Given the description of an element on the screen output the (x, y) to click on. 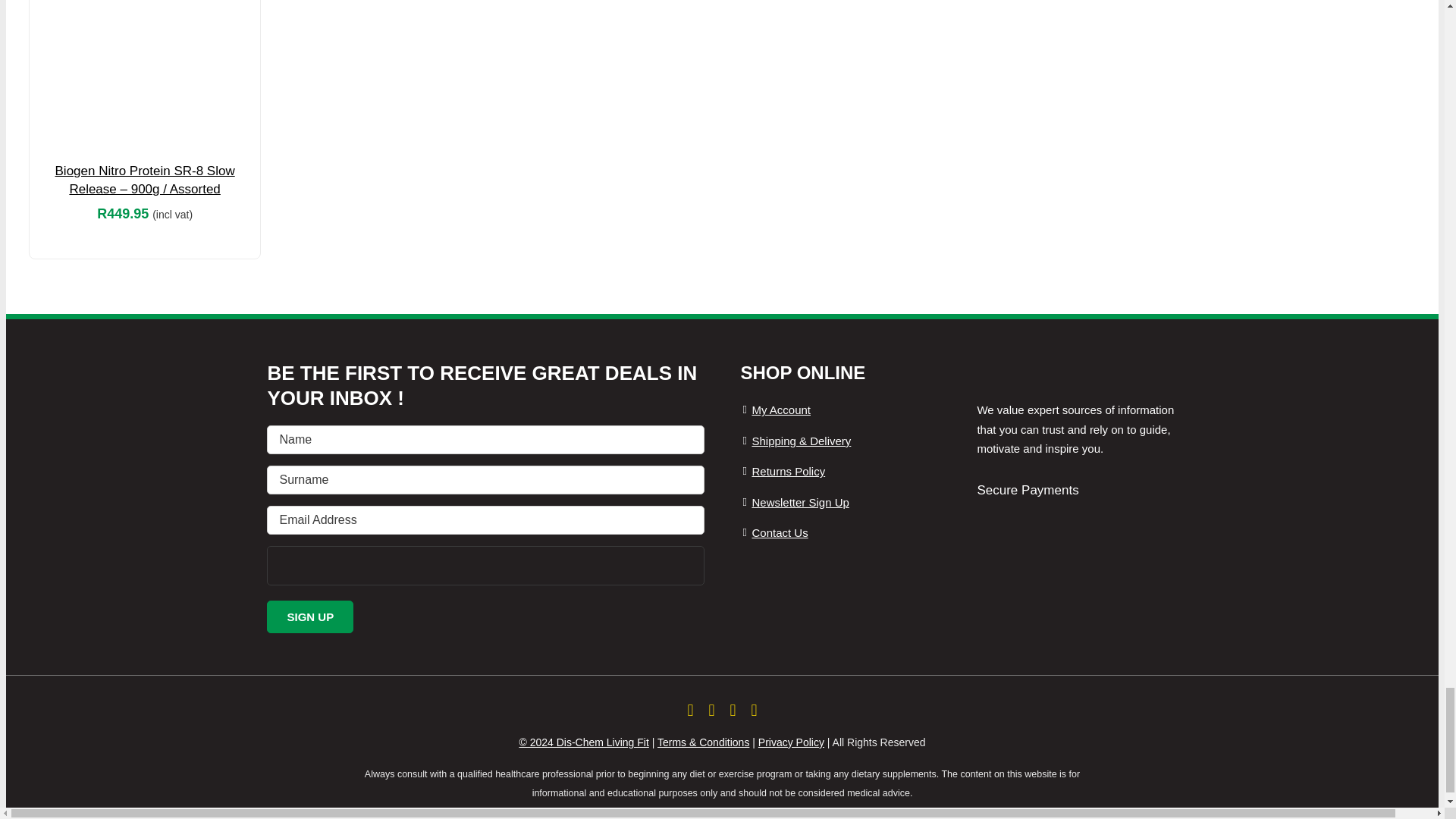
Sign Up (309, 616)
